Given the description of an element on the screen output the (x, y) to click on. 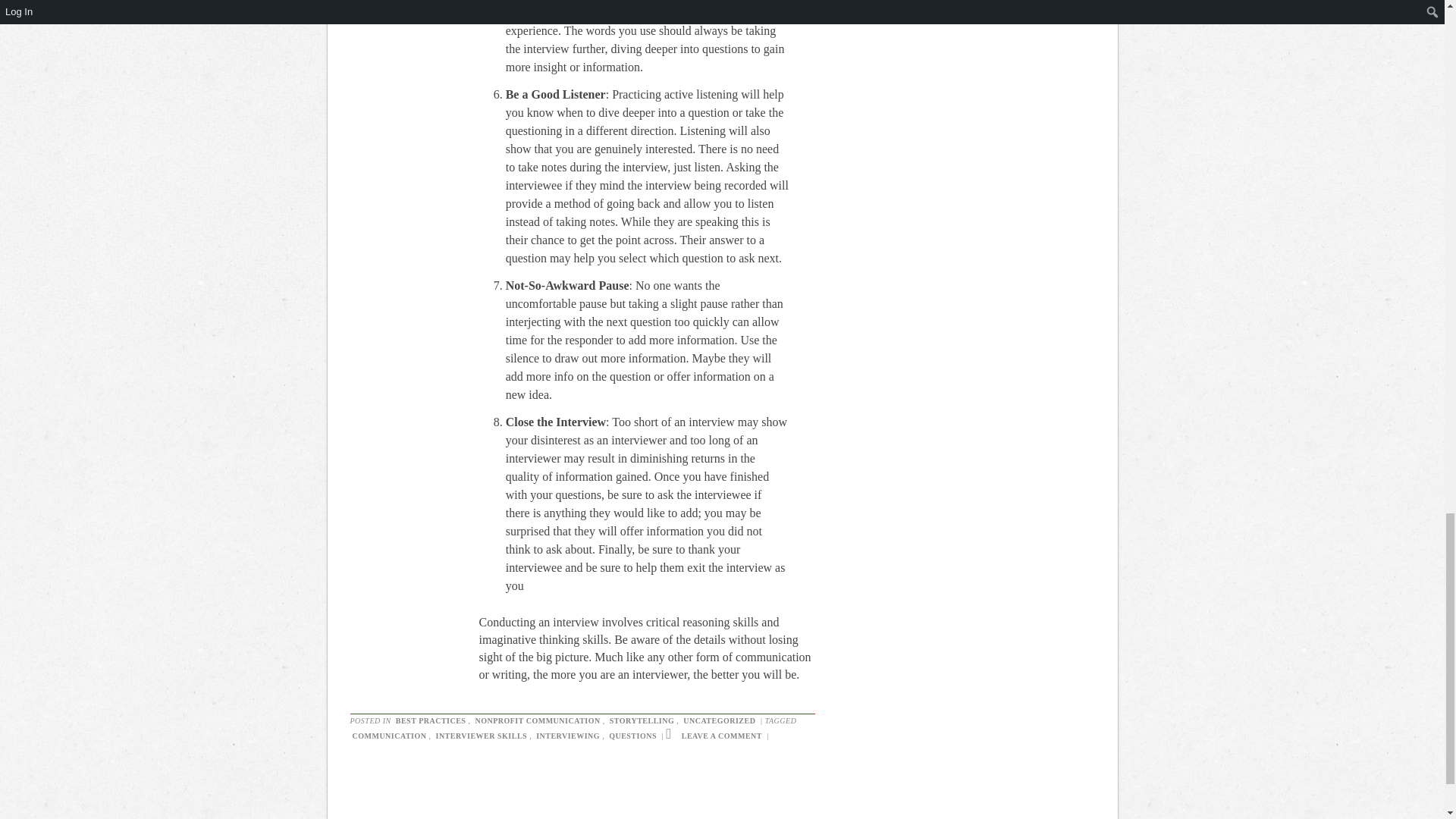
QUESTIONS (633, 736)
COMMUNICATION (389, 736)
INTERVIEWING (568, 736)
UNCATEGORIZED (719, 720)
STORYTELLING (642, 720)
INTERVIEWER SKILLS (480, 736)
NONPROFIT COMMUNICATION (536, 720)
LEAVE A COMMENT (721, 736)
BEST PRACTICES (430, 720)
